Given the description of an element on the screen output the (x, y) to click on. 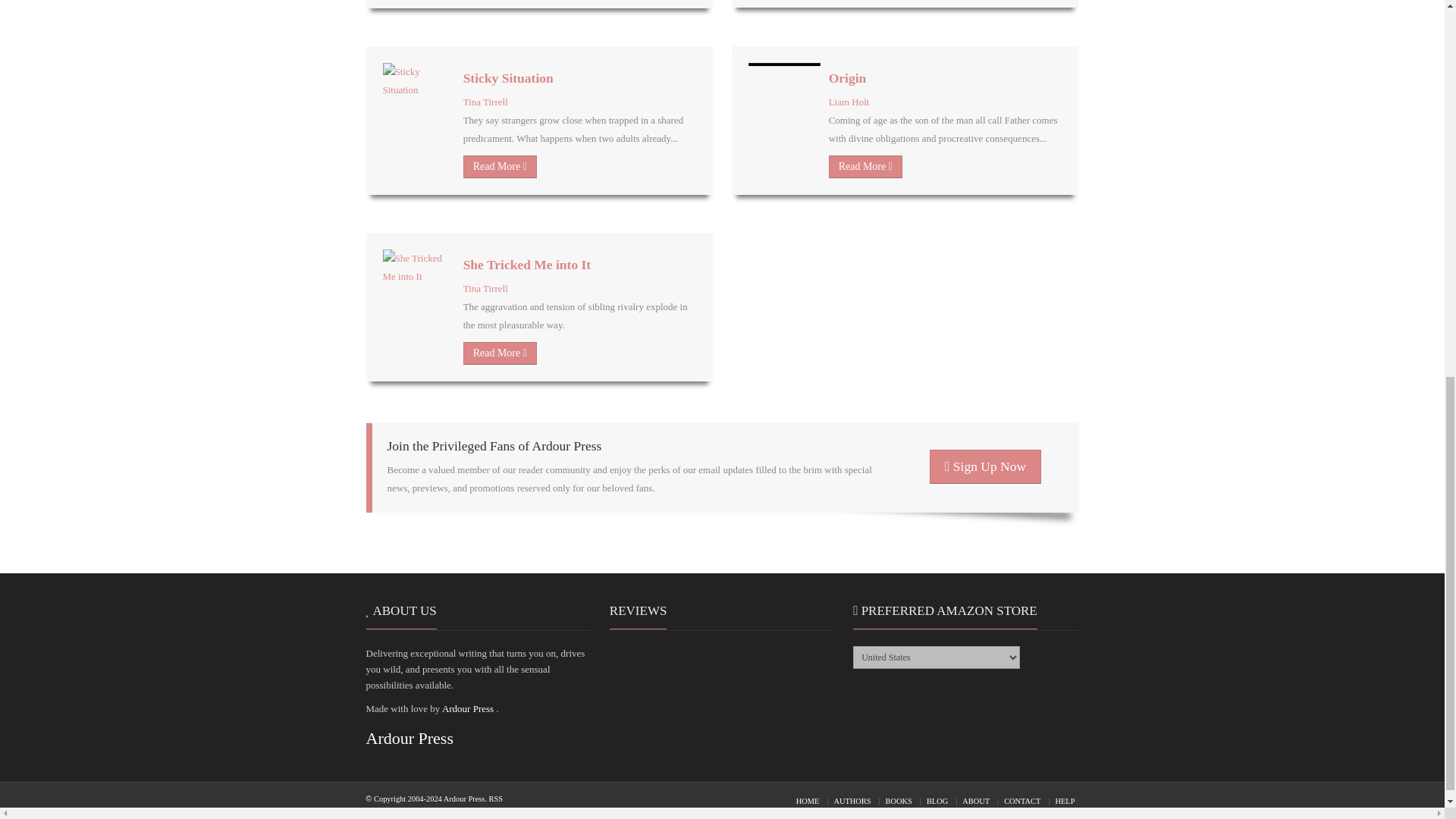
She Tricked Me into It (527, 264)
Origin (847, 77)
Sticky Situation (508, 77)
Tina Tirrell (485, 101)
Read More (500, 166)
Read More (865, 166)
Liam Holt (848, 101)
Tina Tirrell (485, 288)
